Given the description of an element on the screen output the (x, y) to click on. 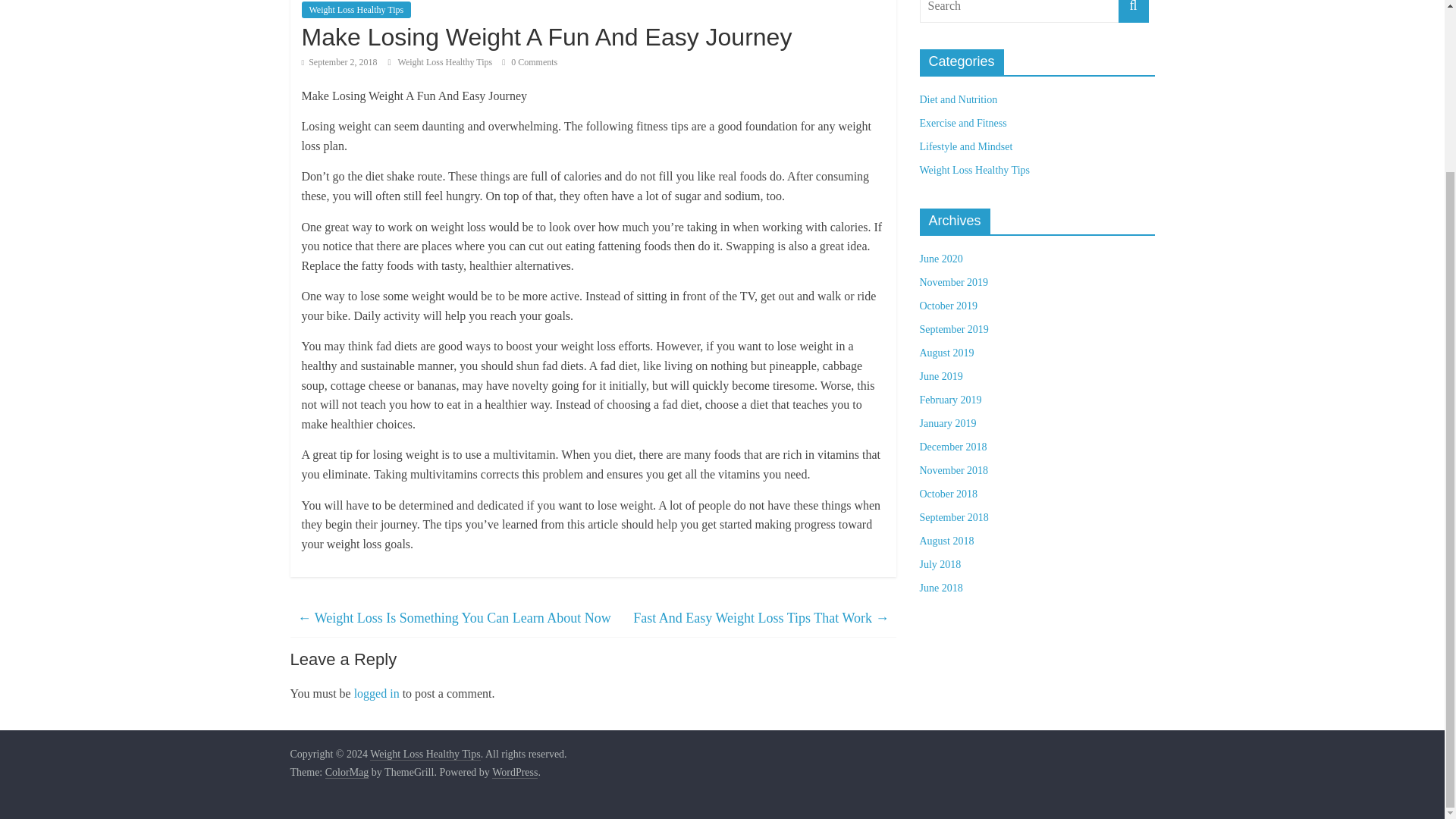
Lifestyle and Mindset (964, 146)
June 2019 (940, 376)
February 2019 (949, 399)
Diet and Nutrition (957, 99)
June 2020 (940, 258)
November 2018 (953, 470)
Weight Loss Healthy Tips (446, 61)
Weight Loss Healthy Tips (446, 61)
October 2019 (947, 306)
January 2019 (946, 423)
